Given the description of an element on the screen output the (x, y) to click on. 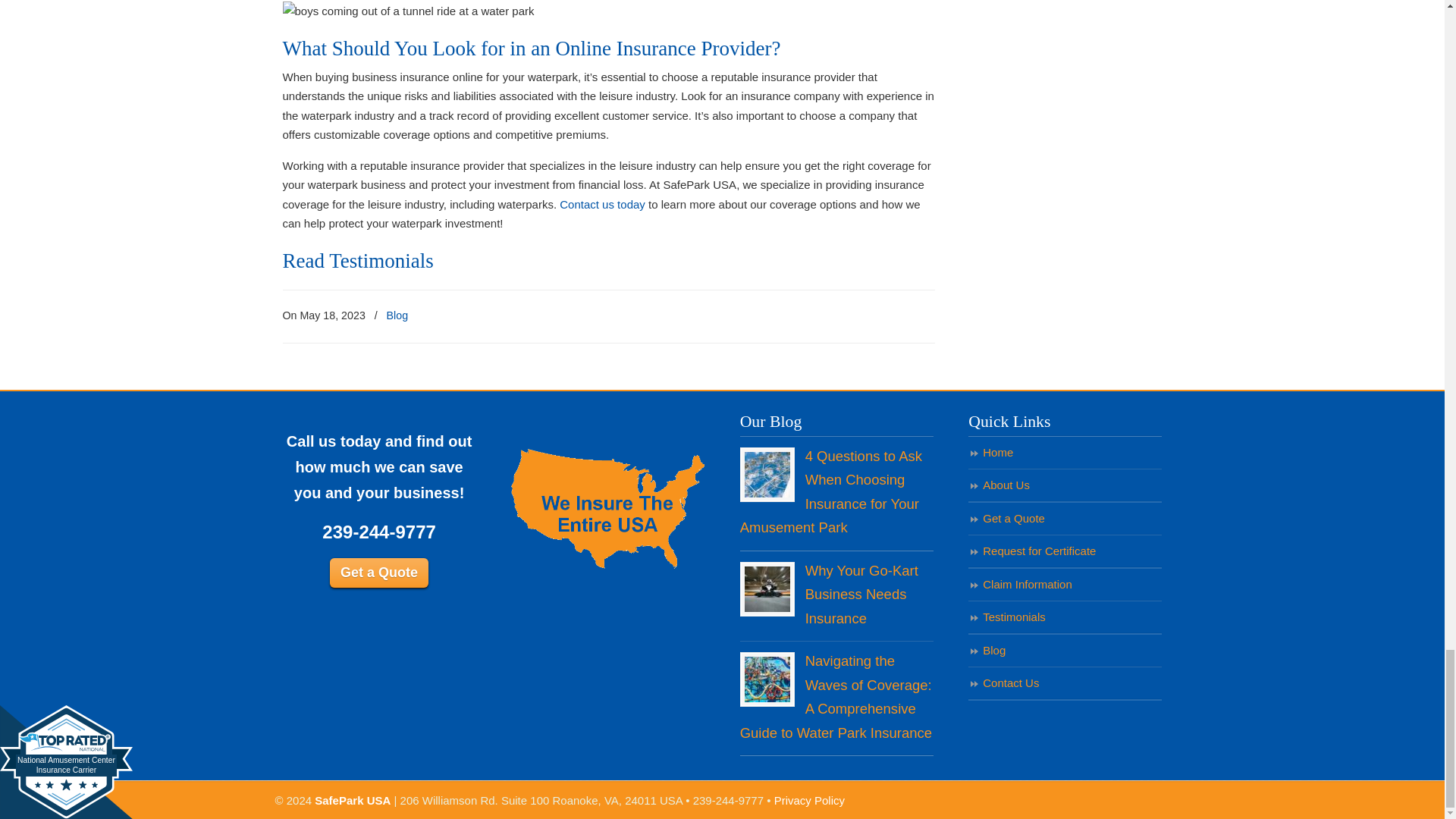
Contact us today (602, 204)
Blog (398, 315)
Read Testimonials (357, 260)
